Given the description of an element on the screen output the (x, y) to click on. 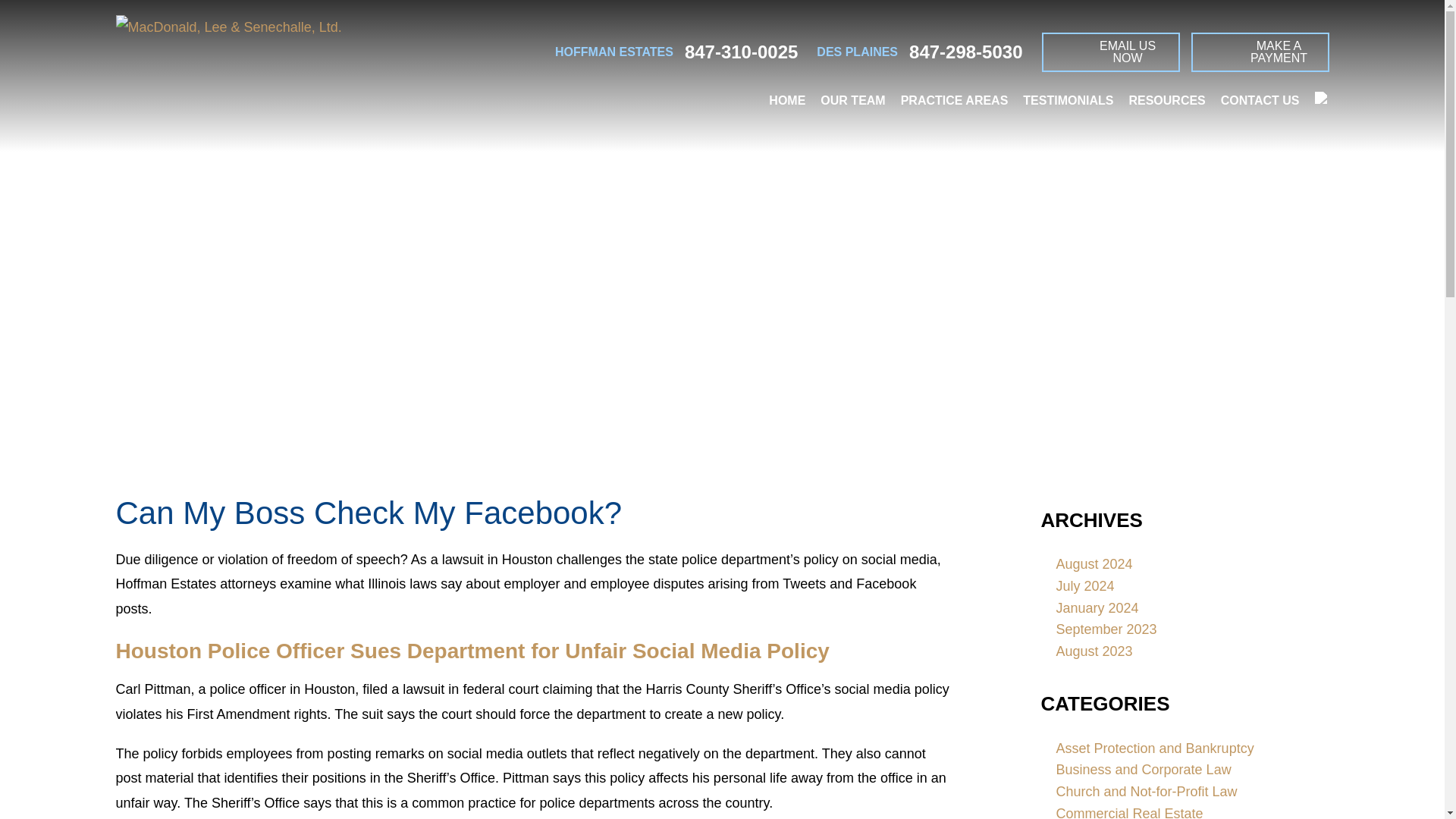
847-298-5030 (965, 52)
PRACTICE AREAS (954, 100)
OUR TEAM (852, 100)
HOME (786, 100)
847-310-0025 (740, 52)
EMAIL US NOW (1110, 52)
MAKE A PAYMENT (1259, 52)
